Given the description of an element on the screen output the (x, y) to click on. 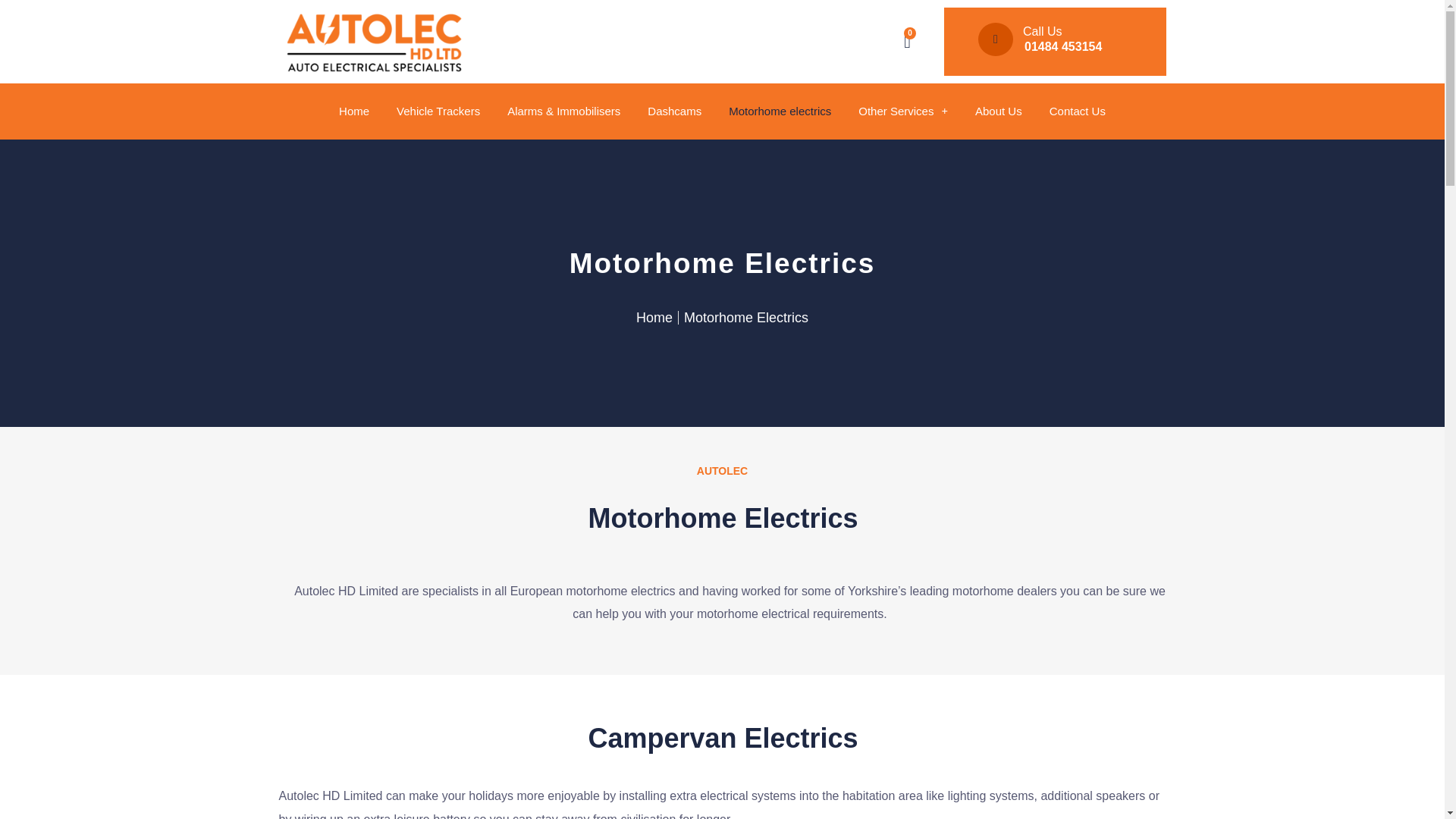
Contact Us (1077, 110)
Motorhome Electrics (746, 317)
Other Services (903, 110)
01484 453154 (1063, 46)
Home (654, 317)
Vehicle Trackers (438, 110)
Home (353, 110)
About Us (998, 110)
0 (906, 41)
Dashcams (674, 110)
Motorhome electrics (780, 110)
